Given the description of an element on the screen output the (x, y) to click on. 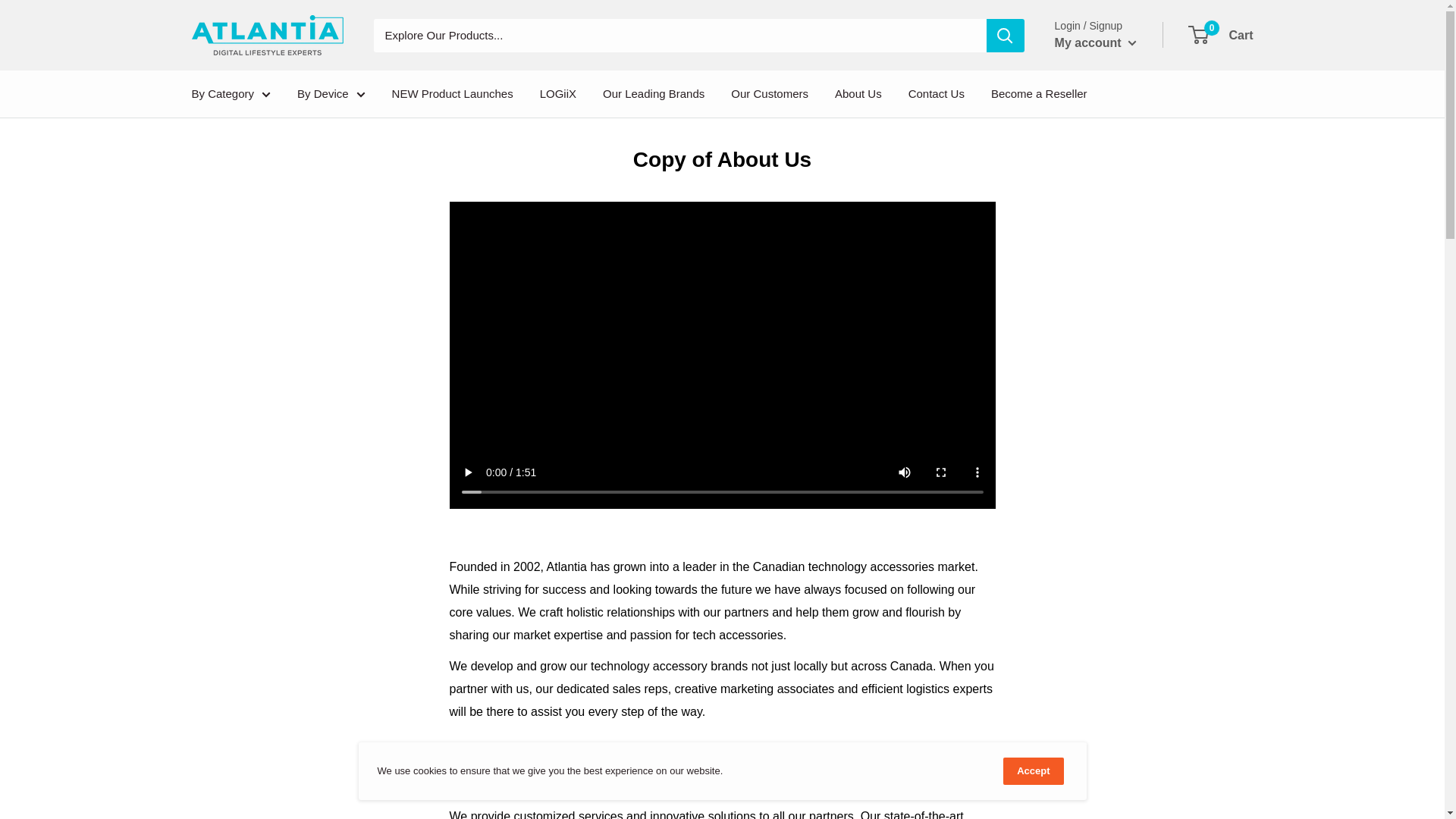
NEW Product Launches Element type: text (452, 93)
Accept Element type: text (1033, 770)
LOGiiX Element type: text (557, 93)
By Device Element type: text (331, 93)
0
Cart Element type: text (1220, 35)
By Category Element type: text (230, 93)
My account Element type: text (1095, 42)
Contact Us Element type: text (936, 93)
Our Customers Element type: text (769, 93)
Our Leading Brands Element type: text (653, 93)
About Us Element type: text (857, 93)
Become a Reseller Element type: text (1039, 93)
